Given the description of an element on the screen output the (x, y) to click on. 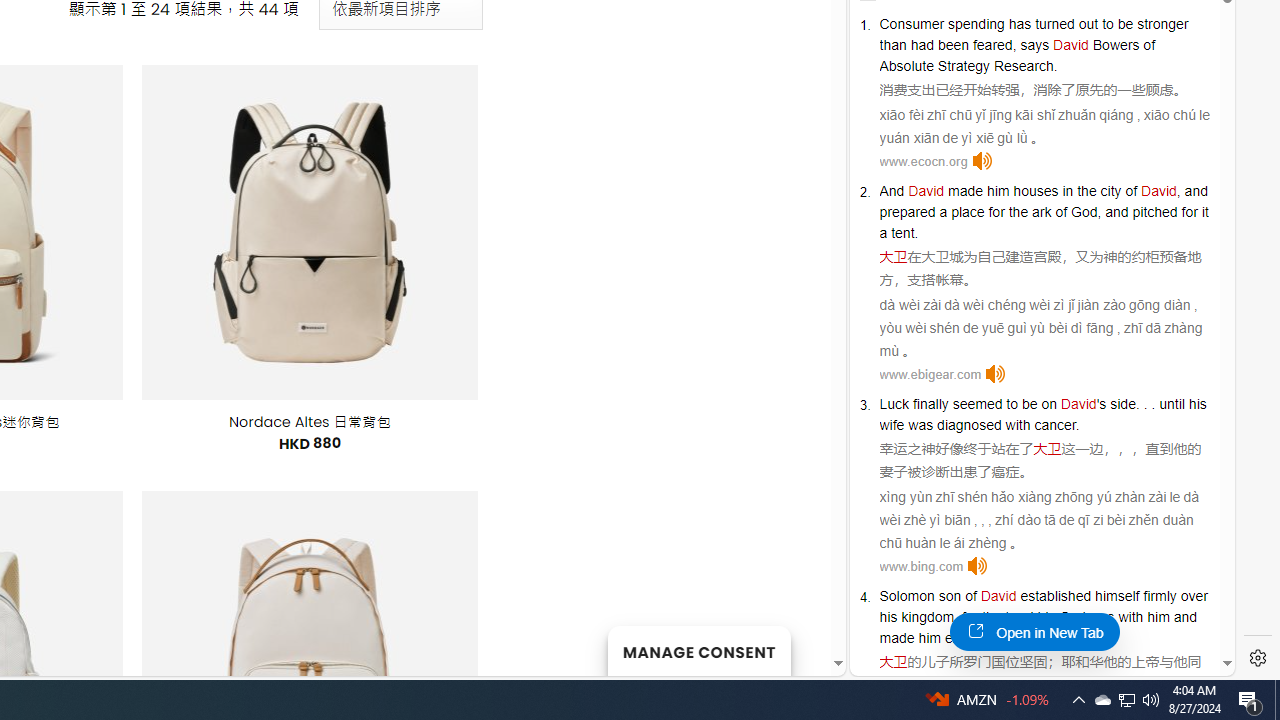
place (968, 211)
firmly (1160, 596)
Solomon (906, 596)
